Given the description of an element on the screen output the (x, y) to click on. 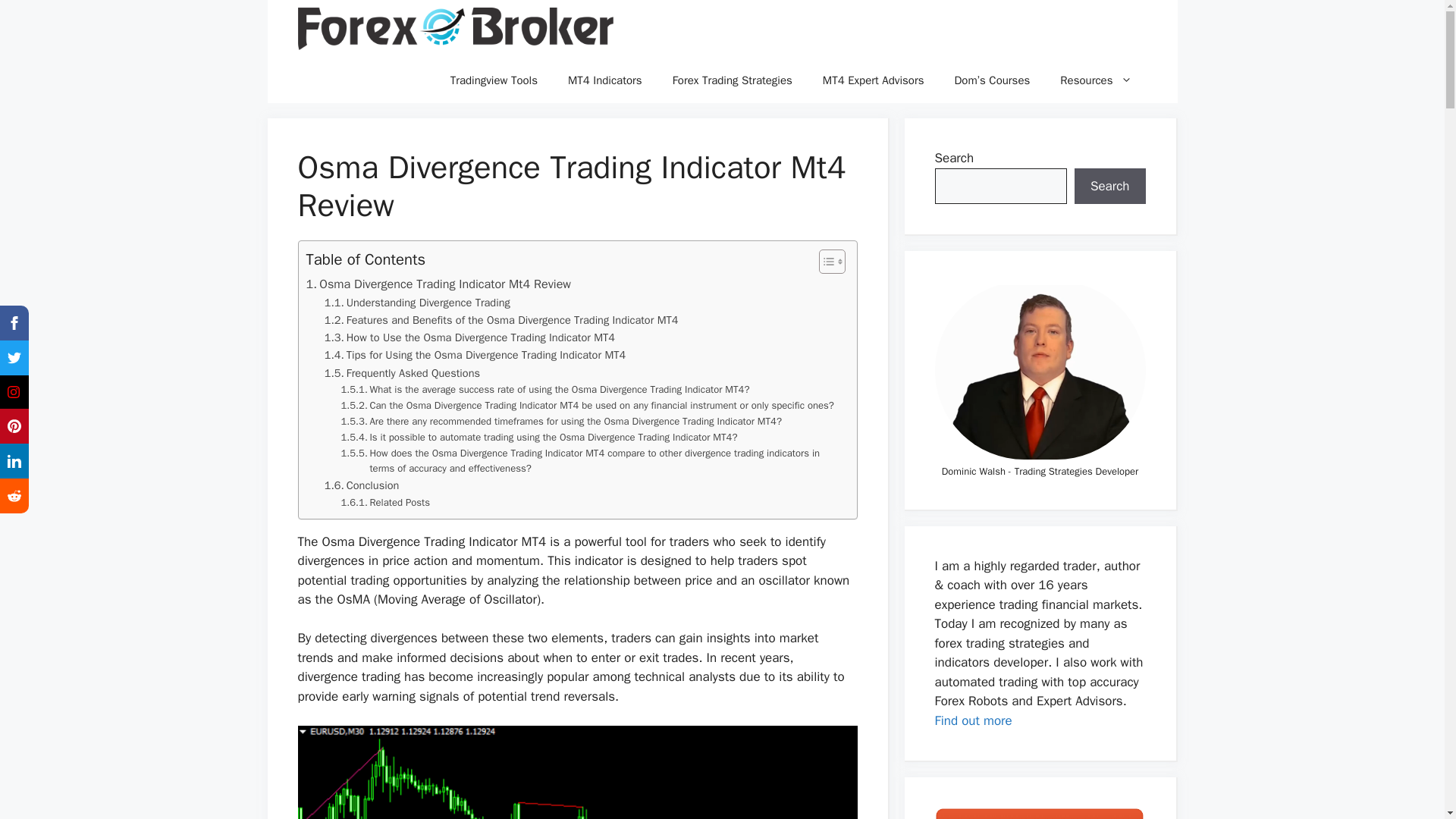
How to Use the Osma Divergence Trading Indicator MT4 (469, 337)
Understanding Divergence Trading (417, 303)
Tips for Using the Osma Divergence Trading Indicator MT4 (475, 354)
Related Posts (385, 503)
Conclusion (361, 485)
Osma Divergence Trading Indicator Mt4 Review (437, 284)
